Given the description of an element on the screen output the (x, y) to click on. 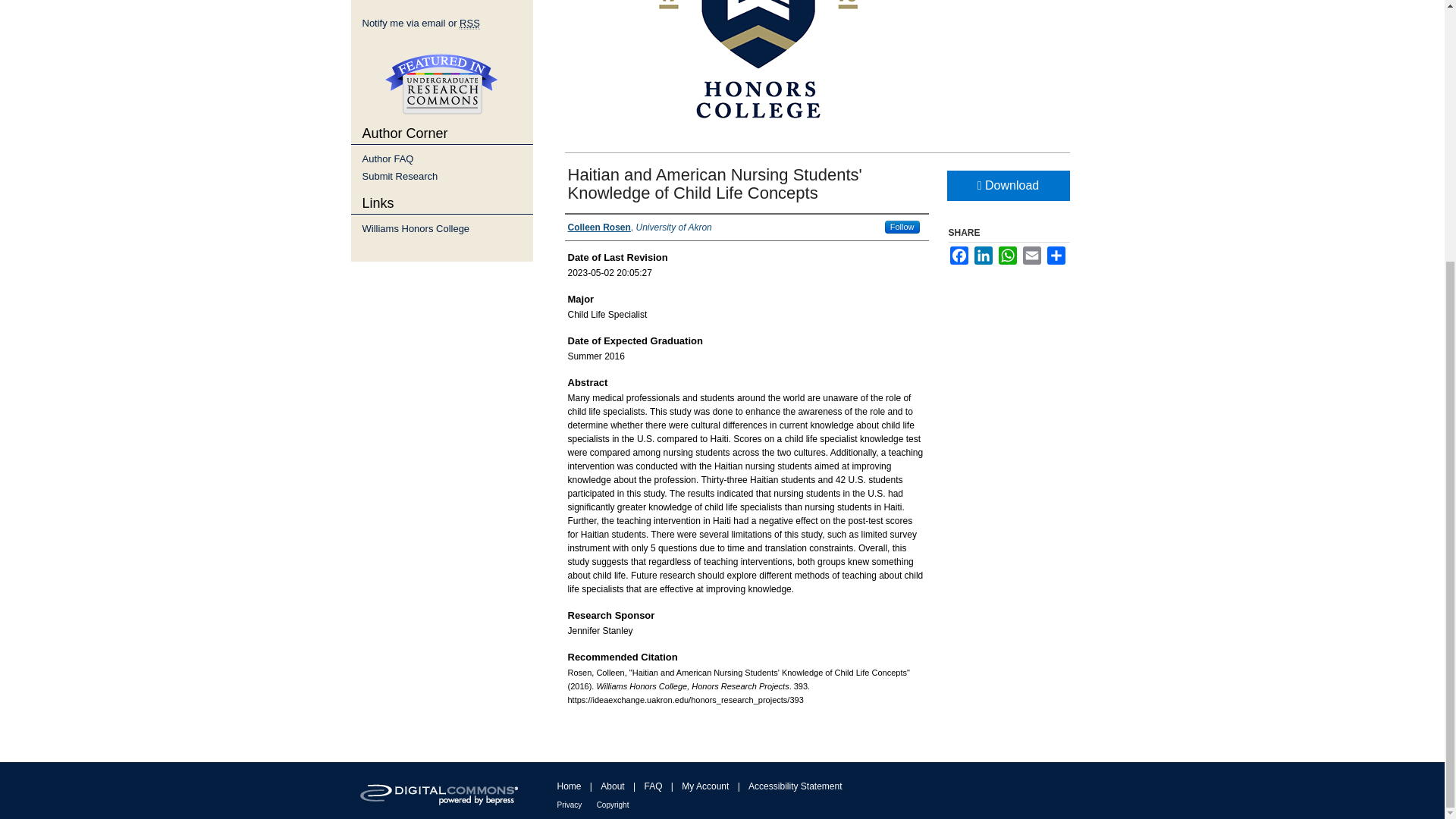
Follow (902, 226)
Undergraduate Research Commons (440, 83)
Notify me via email or RSS (447, 22)
Email (1031, 255)
Advanced Search (401, 1)
Download (1007, 185)
WhatsApp (1006, 255)
LinkedIn (982, 255)
Colleen Rosen, University of Akron (639, 227)
Follow Colleen Rosen (902, 226)
Author FAQ (447, 158)
Email or RSS Notifications (447, 22)
Share (1055, 255)
